Given the description of an element on the screen output the (x, y) to click on. 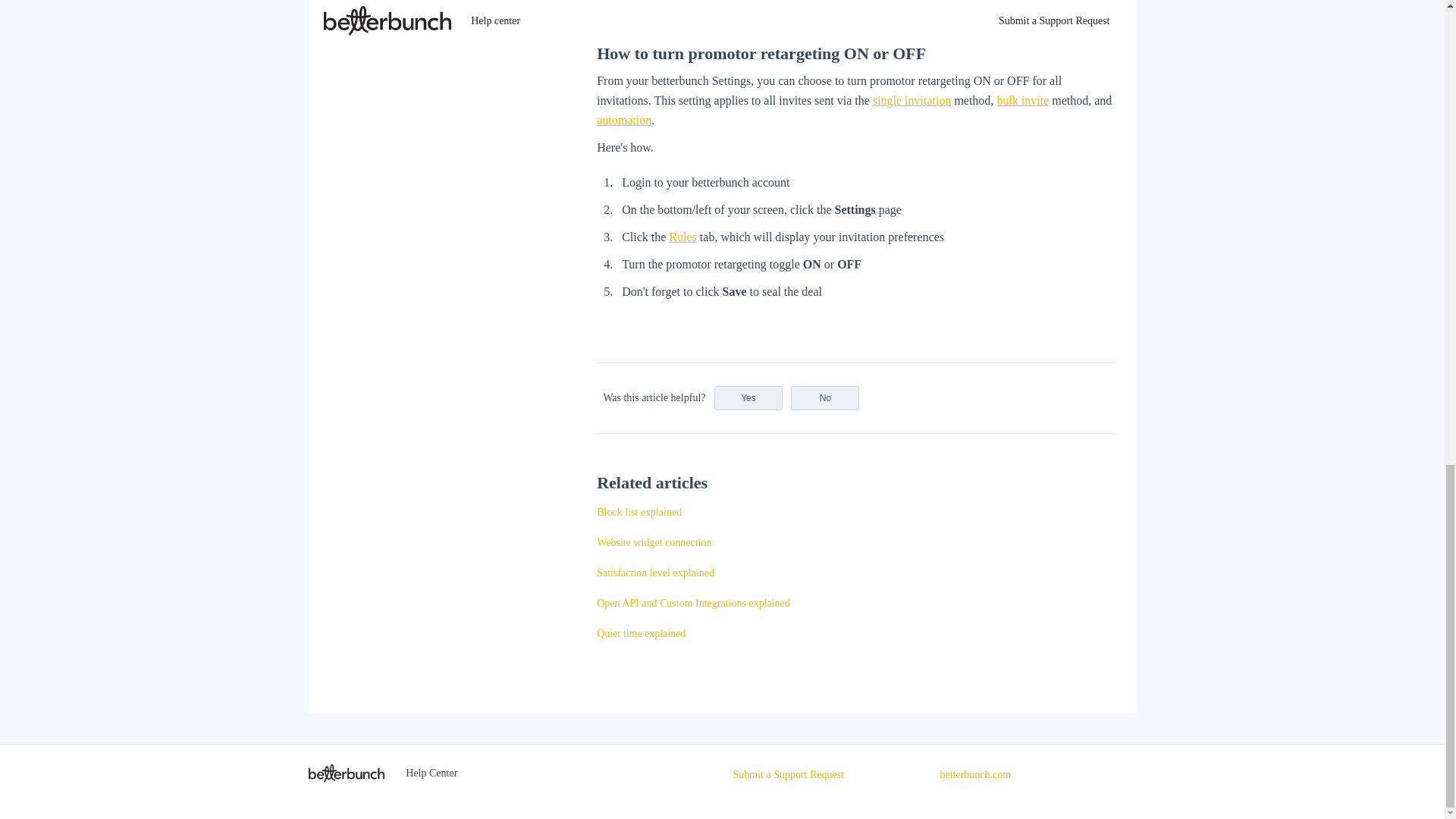
single invitation (912, 100)
bulk invite (1021, 100)
Rules (681, 236)
automation (623, 119)
Block list explained (638, 511)
Yes (748, 397)
No (824, 397)
Website widget connection (653, 542)
